Given the description of an element on the screen output the (x, y) to click on. 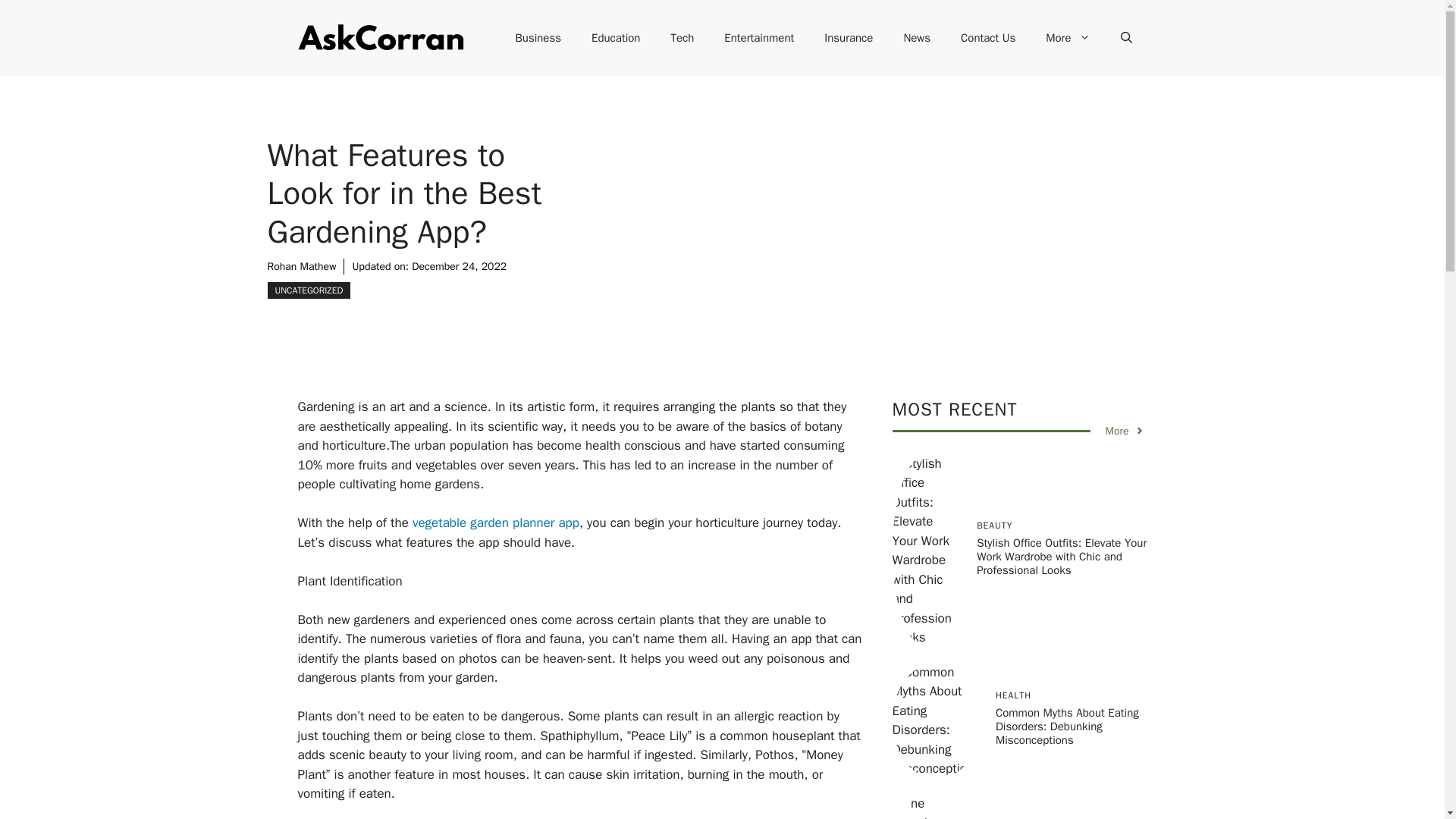
Education (615, 37)
More (1124, 430)
vegetable garden planner app (494, 522)
UNCATEGORIZED (308, 289)
Entertainment (759, 37)
More (1067, 37)
Tech (682, 37)
Insurance (848, 37)
